Given the description of an element on the screen output the (x, y) to click on. 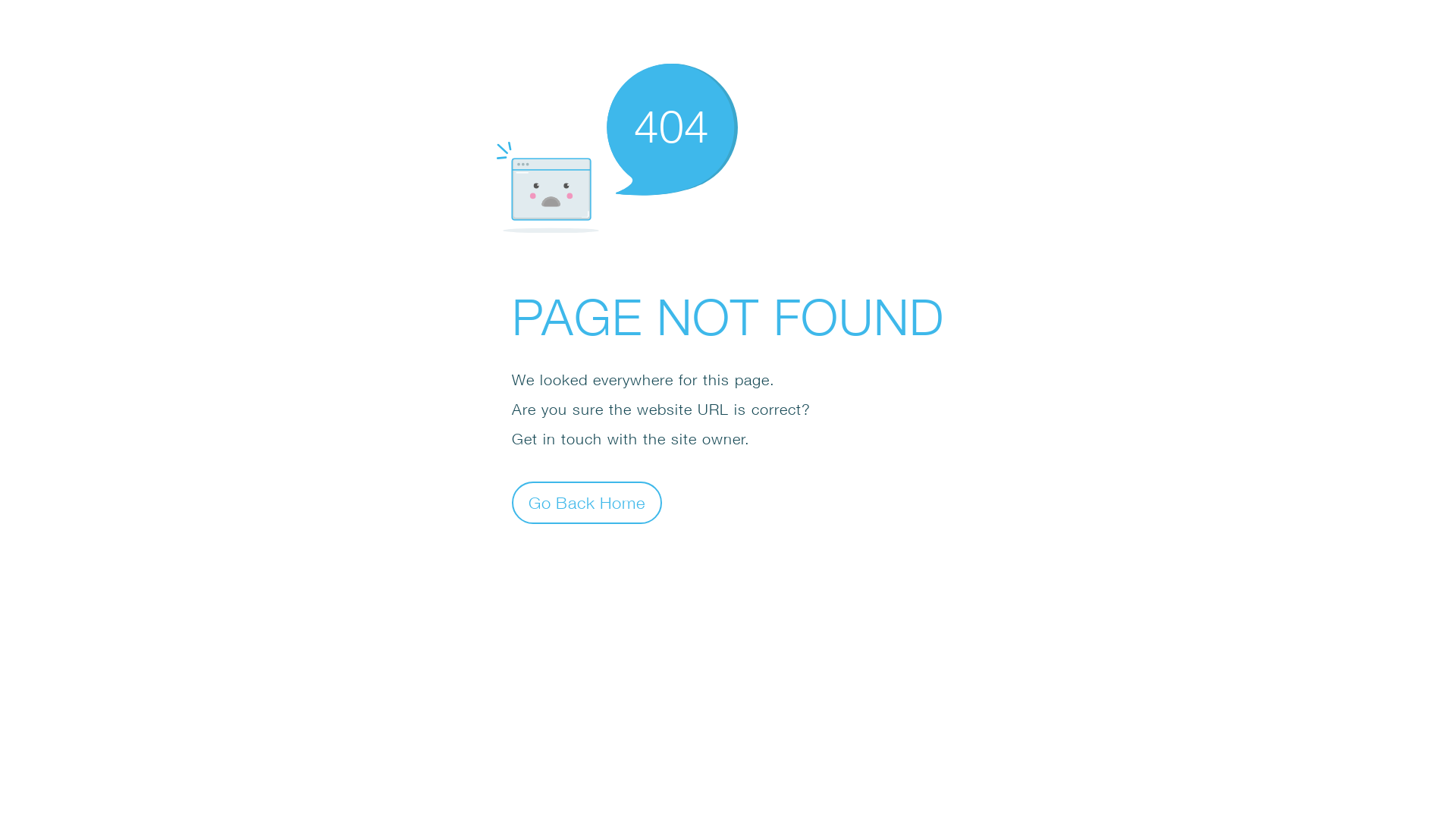
Go Back Home Element type: text (586, 502)
